Given the description of an element on the screen output the (x, y) to click on. 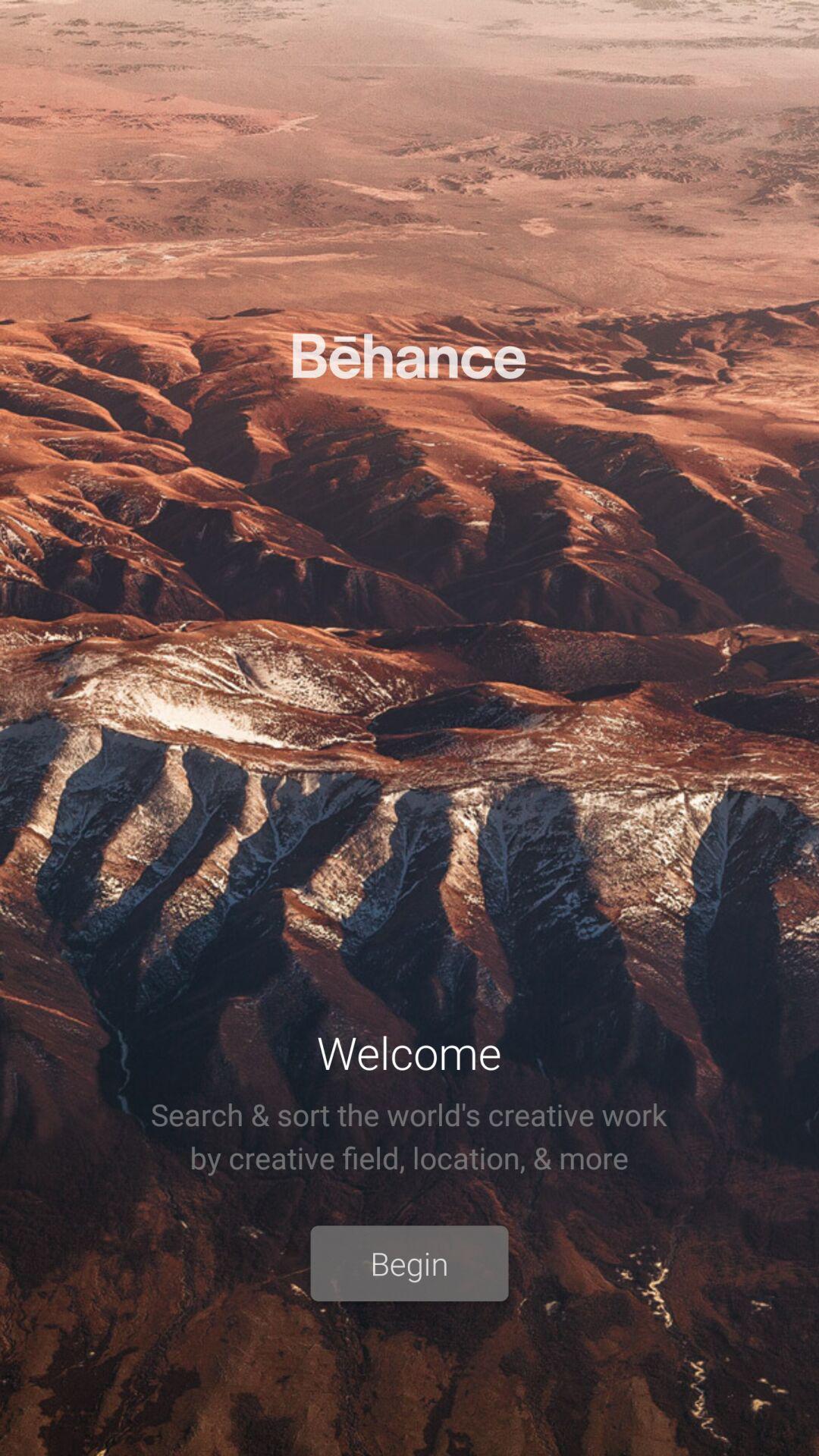
select the begin item (409, 1263)
